Given the description of an element on the screen output the (x, y) to click on. 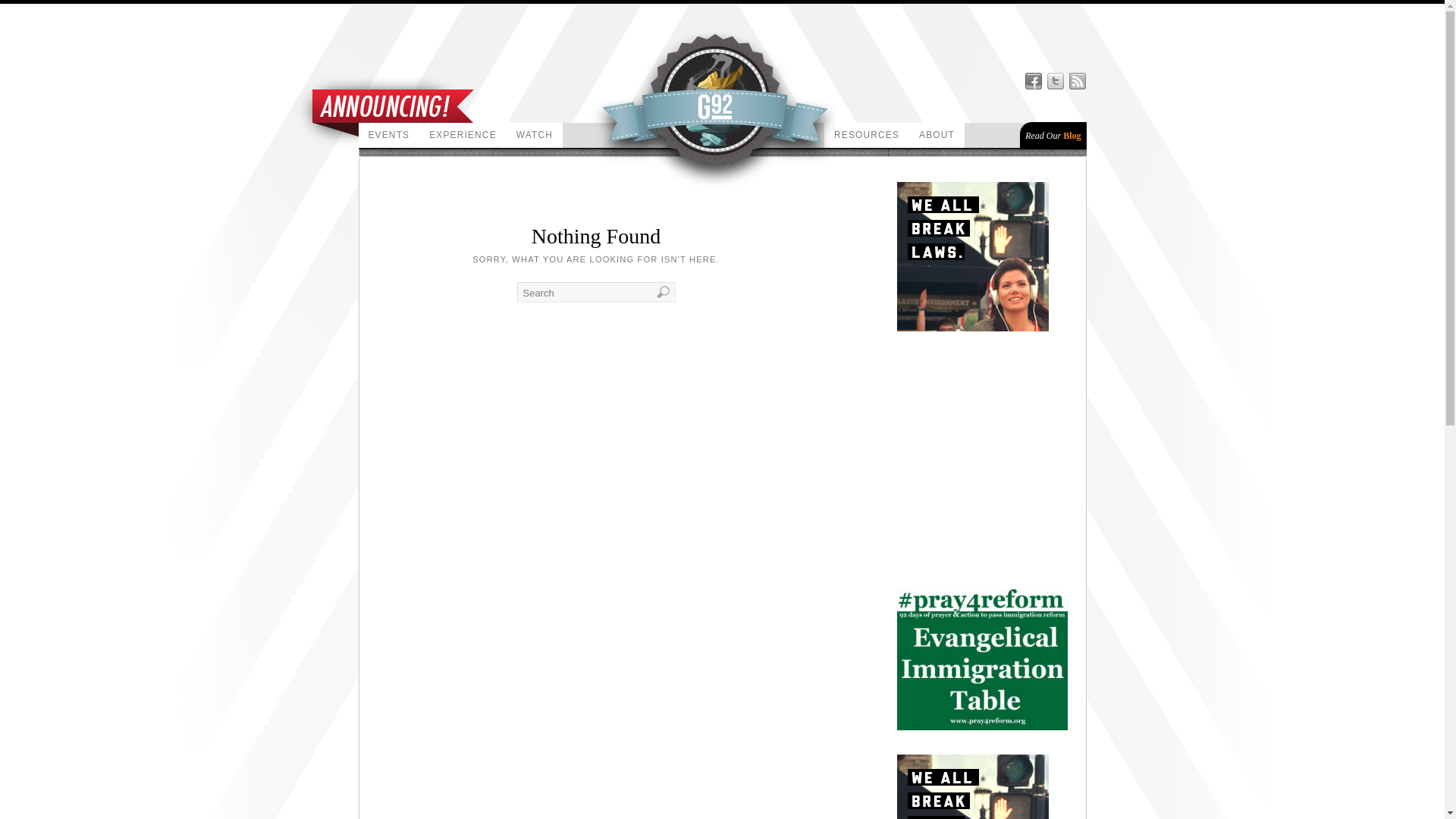
EVENTS (388, 135)
Search (595, 291)
Search (595, 291)
G92.org (498, 258)
ABOUT (935, 135)
RESOURCES (866, 135)
Read Our Blog (1052, 135)
WATCH (534, 135)
EXPERIENCE (462, 135)
